Given the description of an element on the screen output the (x, y) to click on. 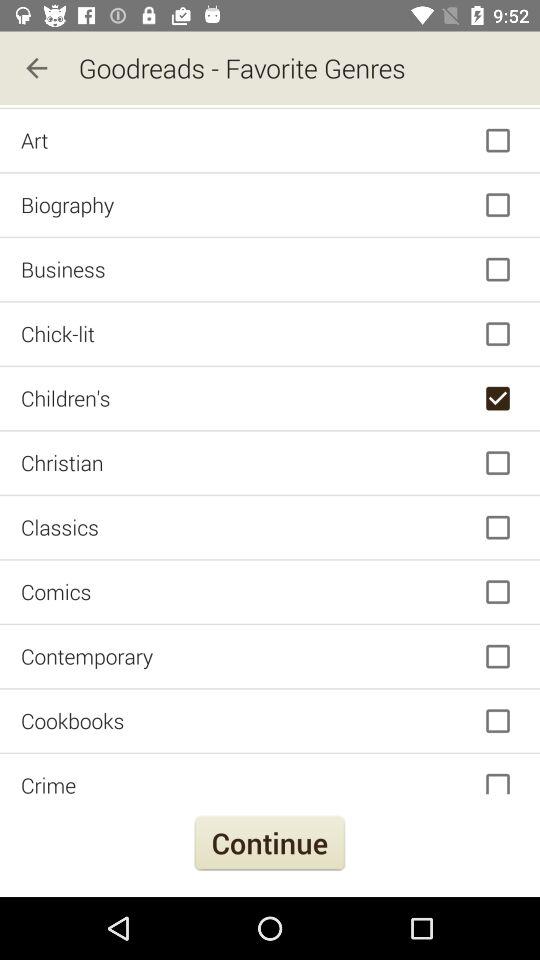
choose the classics item (270, 527)
